Given the description of an element on the screen output the (x, y) to click on. 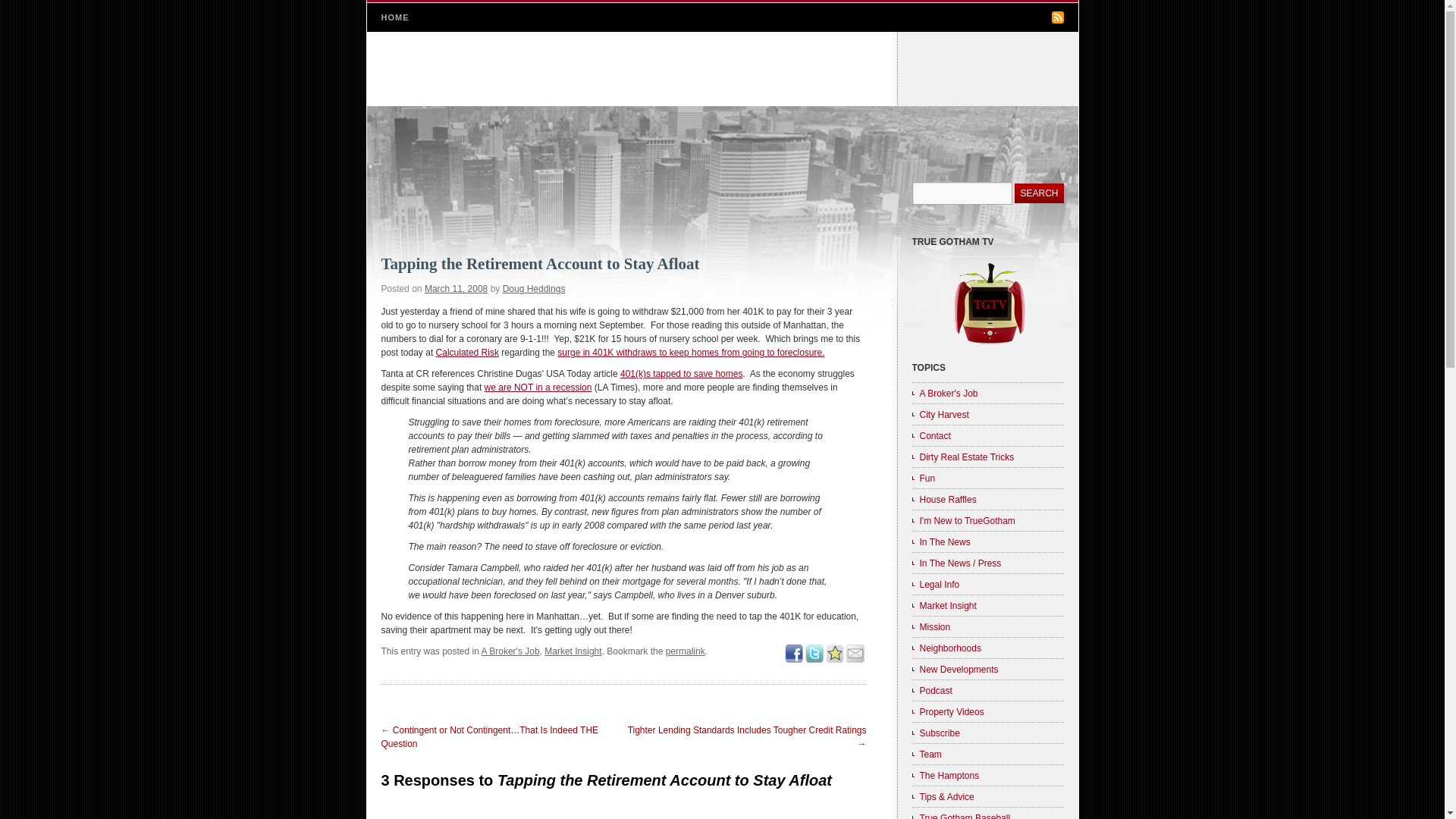
I'm New to TrueGotham (986, 519)
home (721, 68)
Home (721, 68)
True Gotham TV (988, 345)
View all posts by Doug Heddings (534, 288)
RSS Feed (1056, 17)
Search (1038, 193)
